Given the description of an element on the screen output the (x, y) to click on. 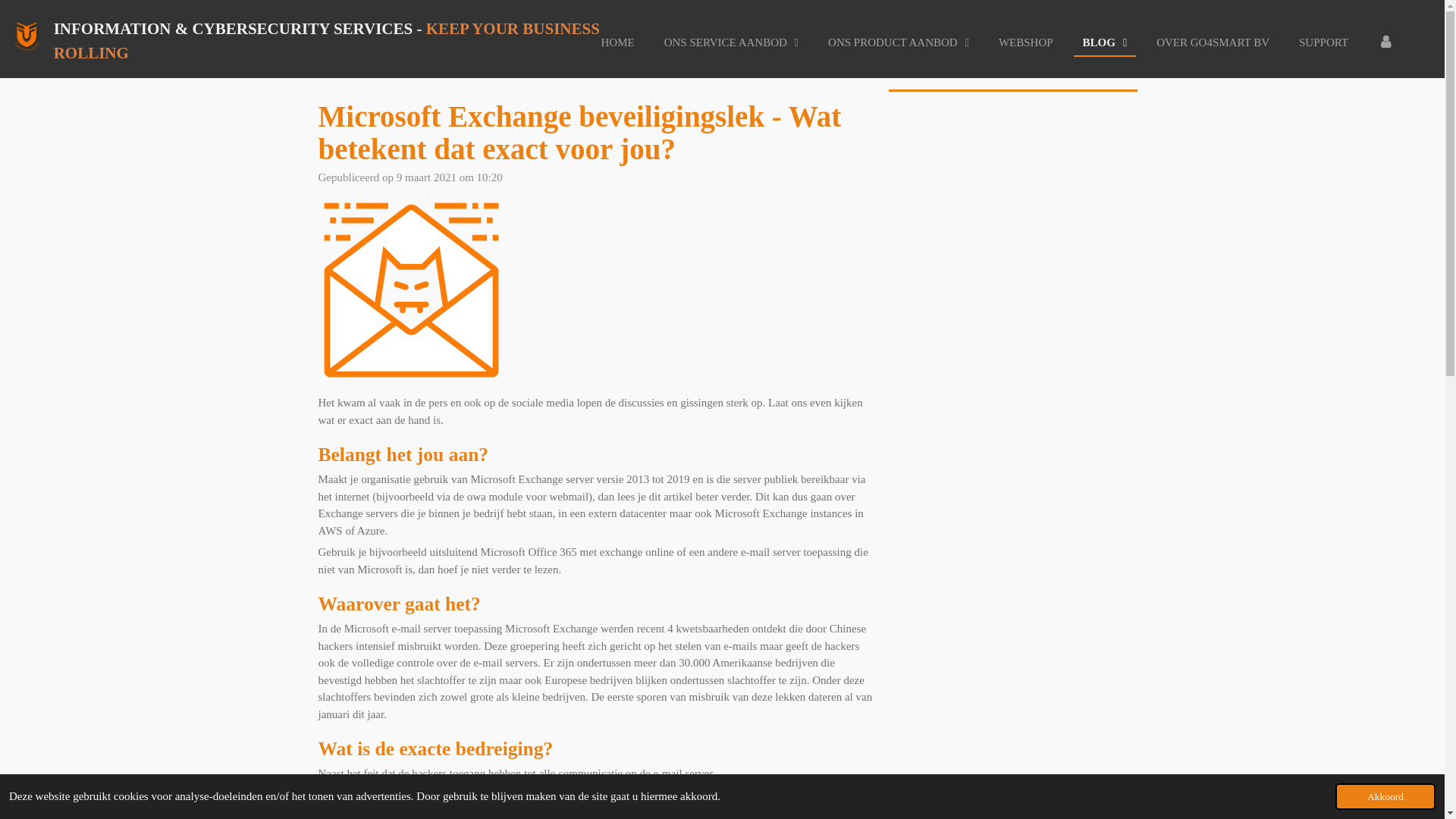
Akkoord Element type: text (1385, 796)
Account Element type: hover (1385, 42)
Cybersecured - a service of Go4Smart bv Element type: hover (26, 35)
HOME Element type: text (617, 42)
ONS SERVICE AANBOD Element type: text (731, 42)
BLOG Element type: text (1104, 42)
WEBSHOP Element type: text (1025, 42)
OVER GO4SMART BV Element type: text (1212, 42)
ONS PRODUCT AANBOD Element type: text (898, 42)
SUPPORT Element type: text (1323, 42)
